Given the description of an element on the screen output the (x, y) to click on. 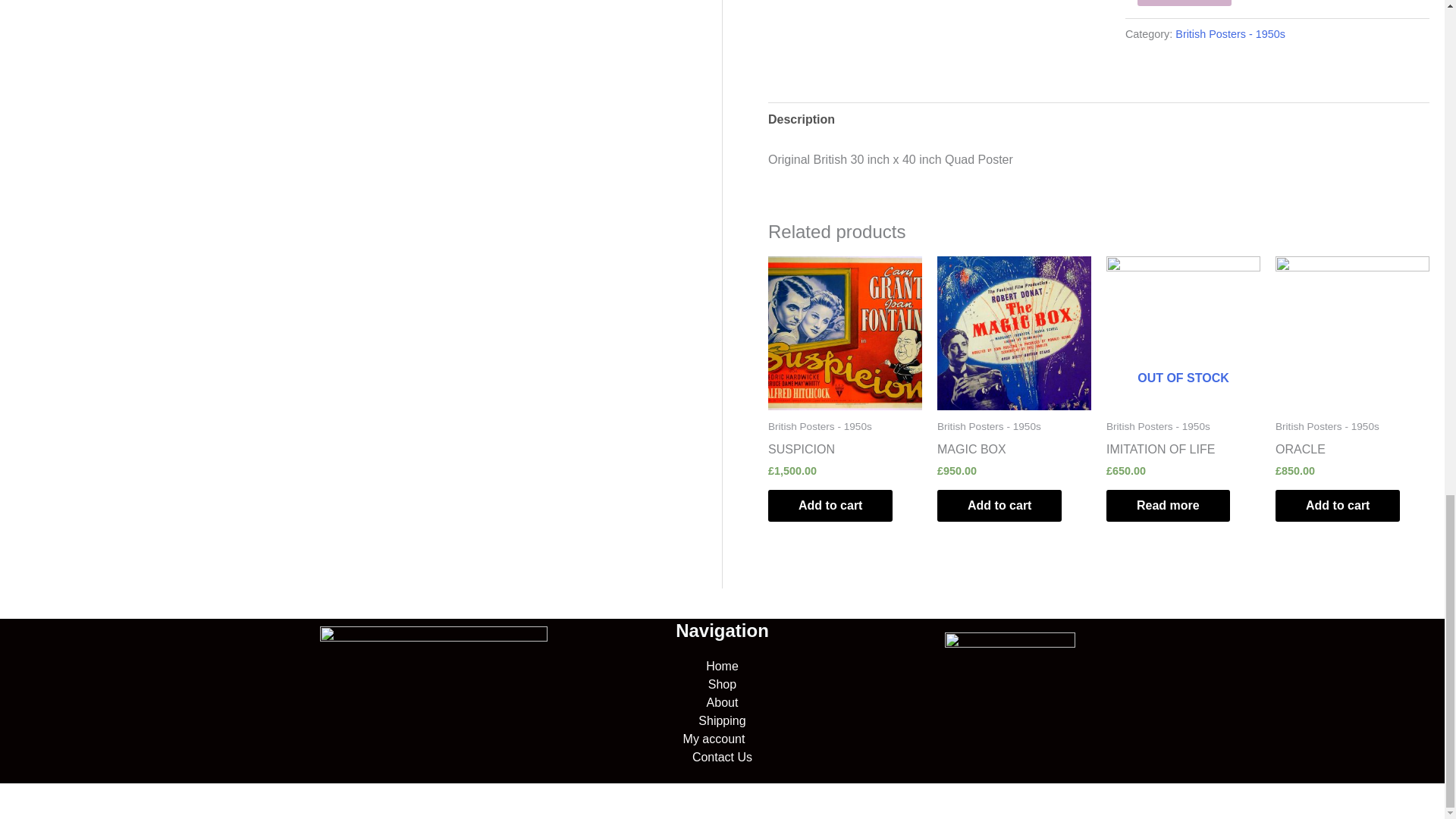
Shipping (722, 720)
Add to cart (830, 505)
OUT OF STOCK (1183, 333)
Add to cart (1184, 2)
Add to cart (999, 505)
SUSPICION (801, 453)
British Posters - 1950s (1229, 33)
About (722, 702)
Description (801, 119)
My account (722, 739)
Add to cart (1337, 505)
ORACLE (1299, 453)
Shop (722, 684)
Contact Us (722, 757)
IMITATION OF LIFE (1160, 453)
